Given the description of an element on the screen output the (x, y) to click on. 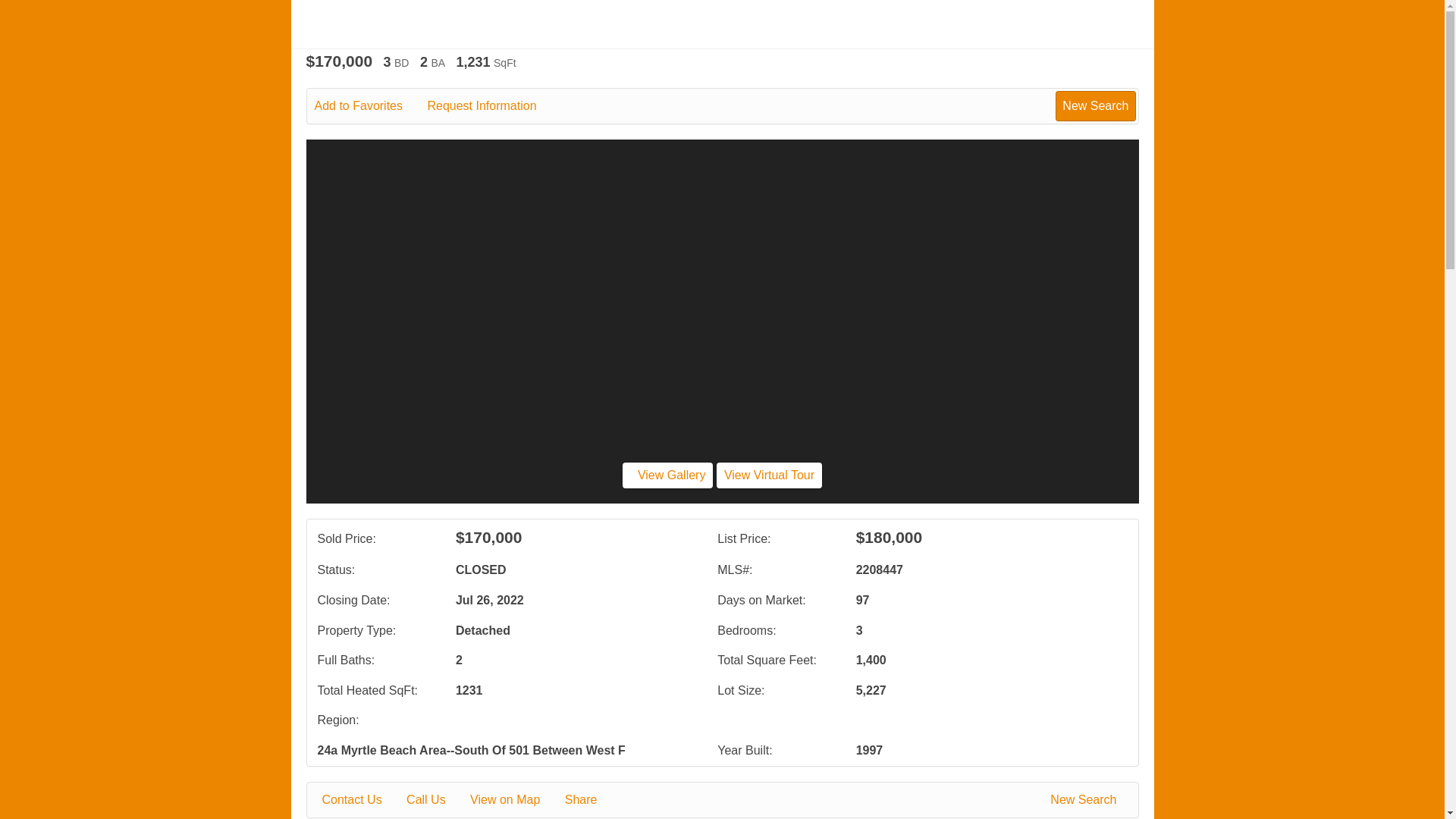
View Virtual Tour (769, 475)
View on Map (515, 799)
New Search (1095, 105)
Contact Us (362, 799)
Add to Favorites (368, 106)
View Gallery (668, 475)
Share (591, 799)
Request Information (491, 106)
View Virtual Tour (769, 474)
View Gallery (668, 474)
